Given the description of an element on the screen output the (x, y) to click on. 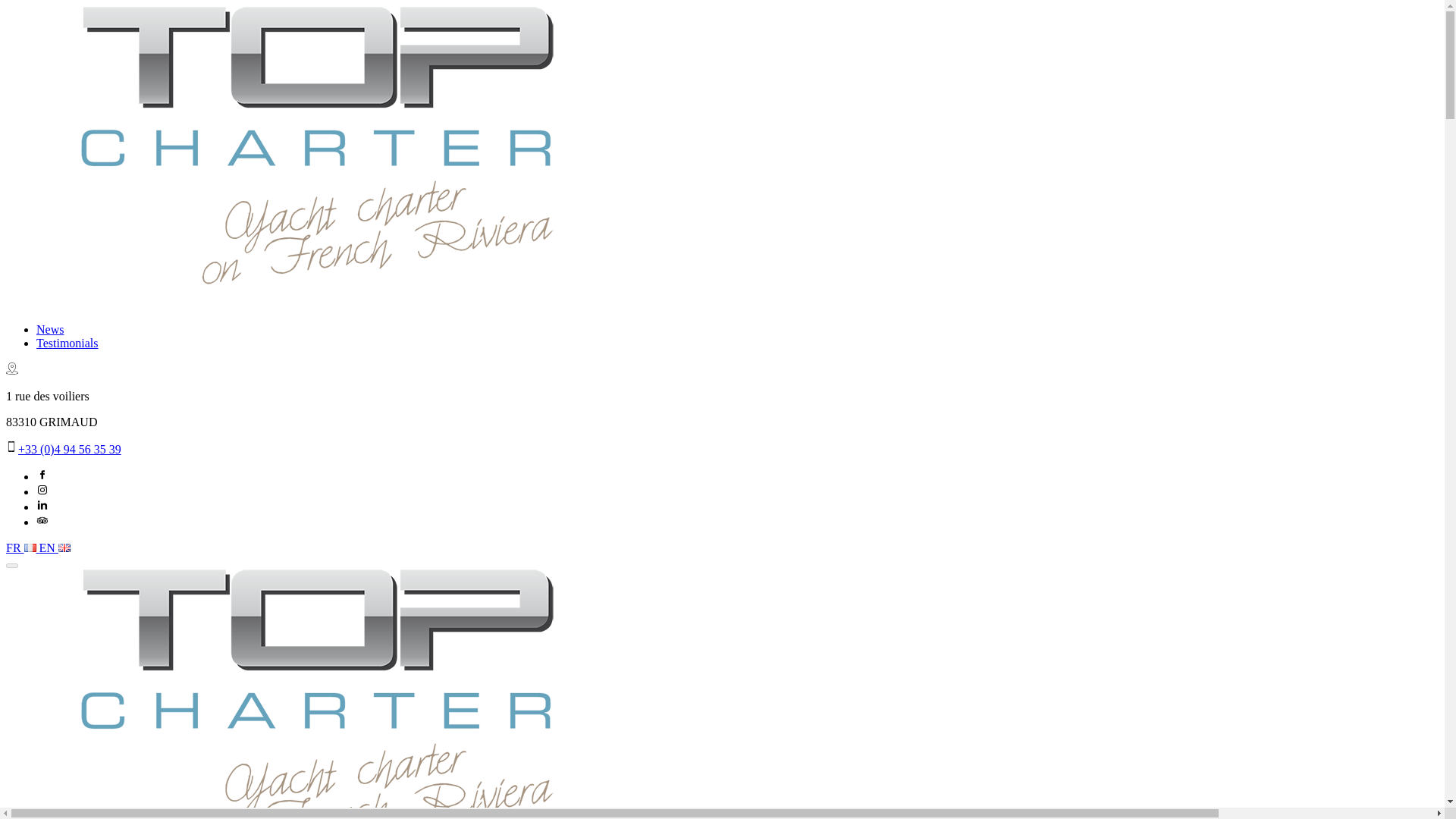
Testimonials (67, 342)
EN (54, 547)
Testimonials (67, 342)
News (50, 328)
News and events boats (50, 328)
FR (22, 547)
